Given the description of an element on the screen output the (x, y) to click on. 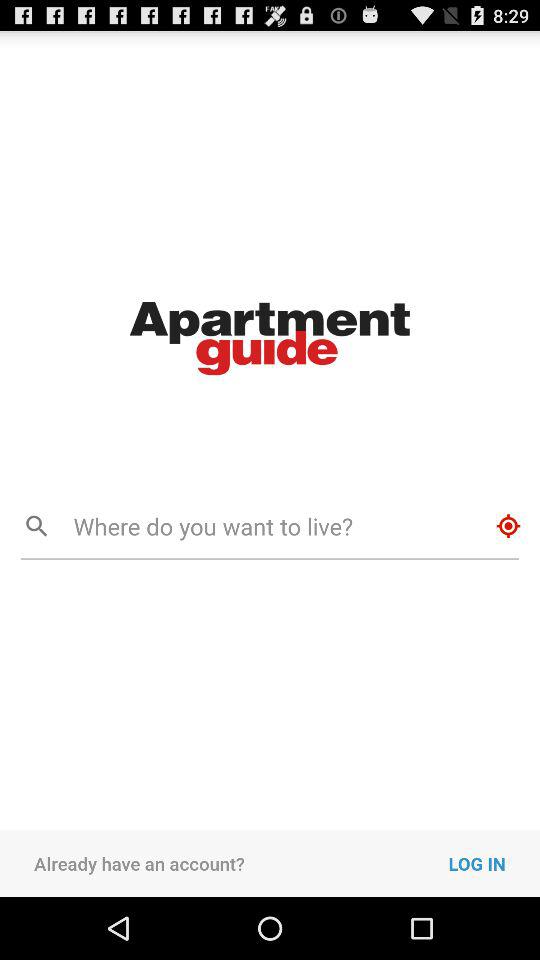
launch icon next to the where do you (508, 525)
